Given the description of an element on the screen output the (x, y) to click on. 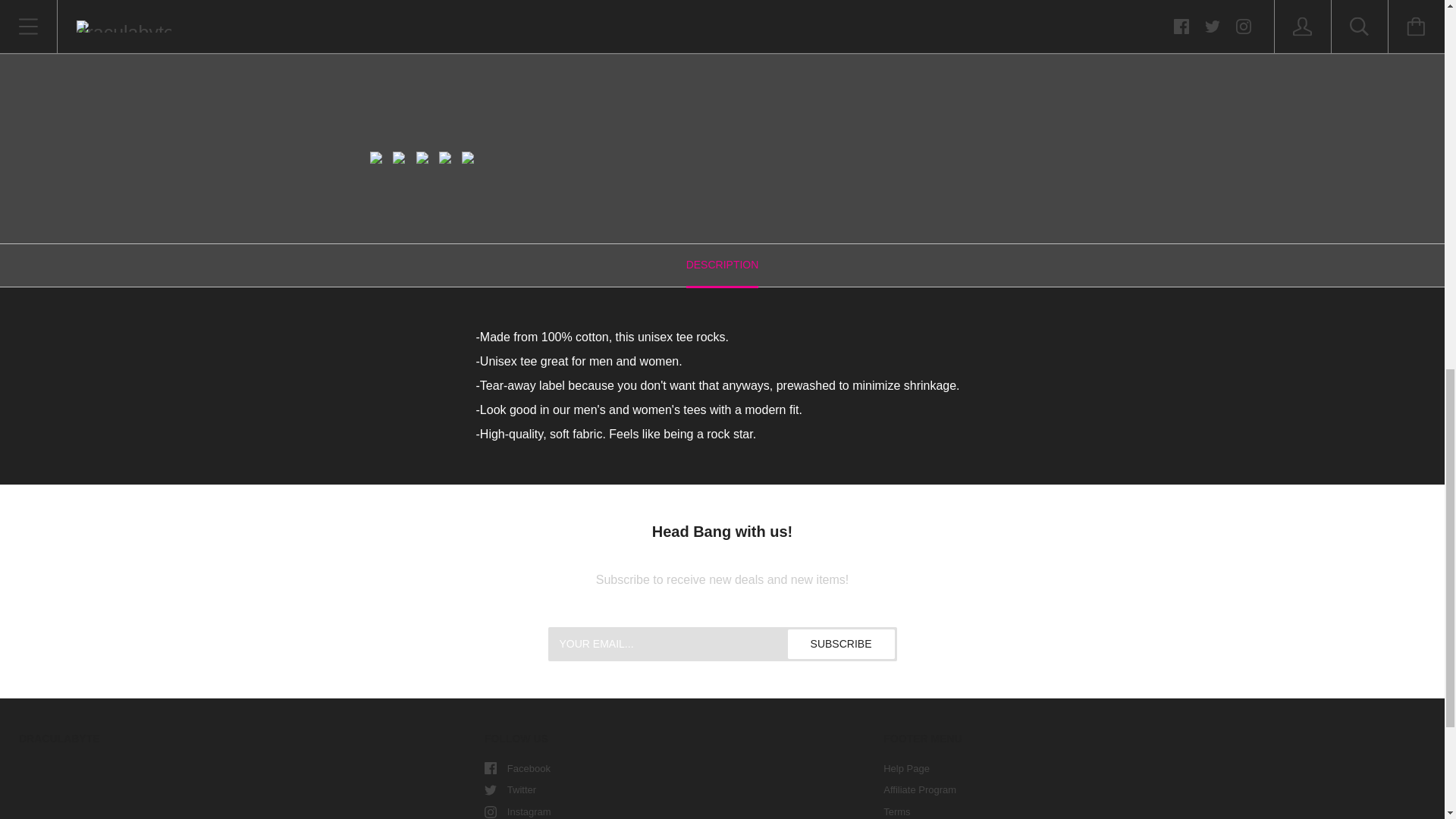
Twitter (490, 789)
Facebook (490, 767)
Subscribe (841, 644)
Instagram (490, 811)
